Given the description of an element on the screen output the (x, y) to click on. 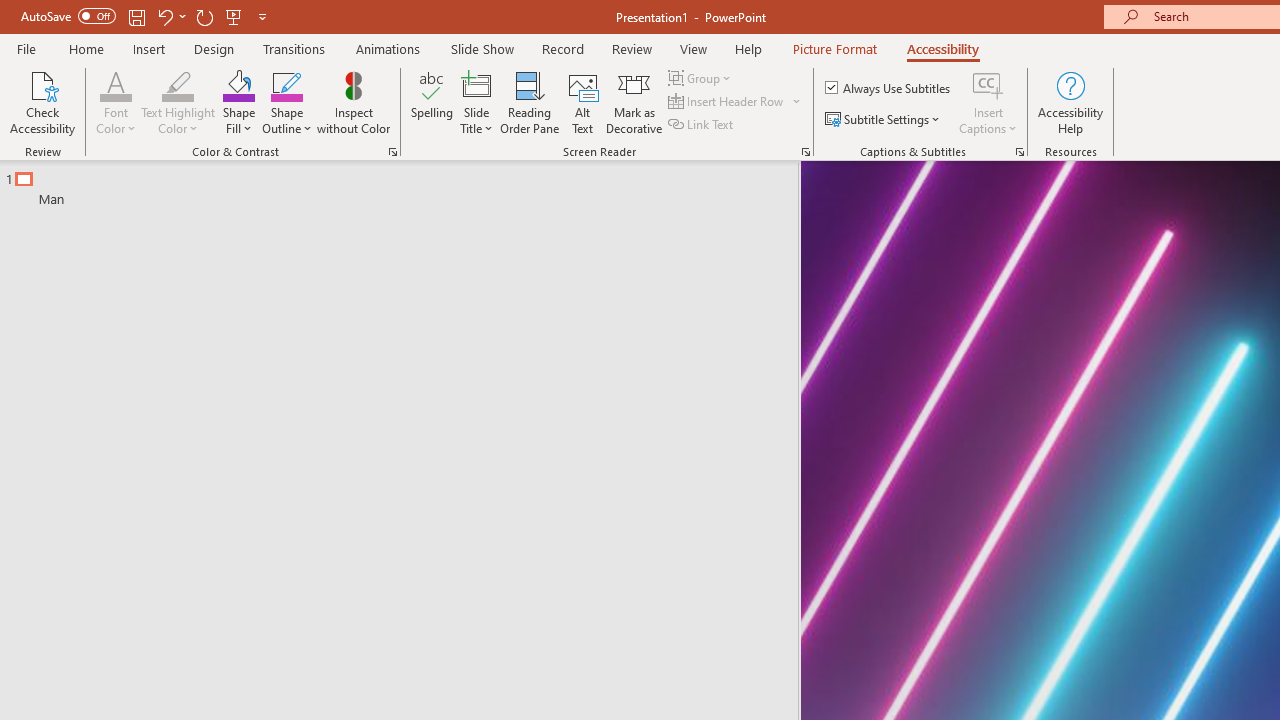
Inspect without Color (353, 102)
Always Use Subtitles (889, 87)
Insert Header Row (727, 101)
Captions & Subtitles (1019, 151)
Slide Title (476, 84)
Reading Order Pane (529, 102)
